Given the description of an element on the screen output the (x, y) to click on. 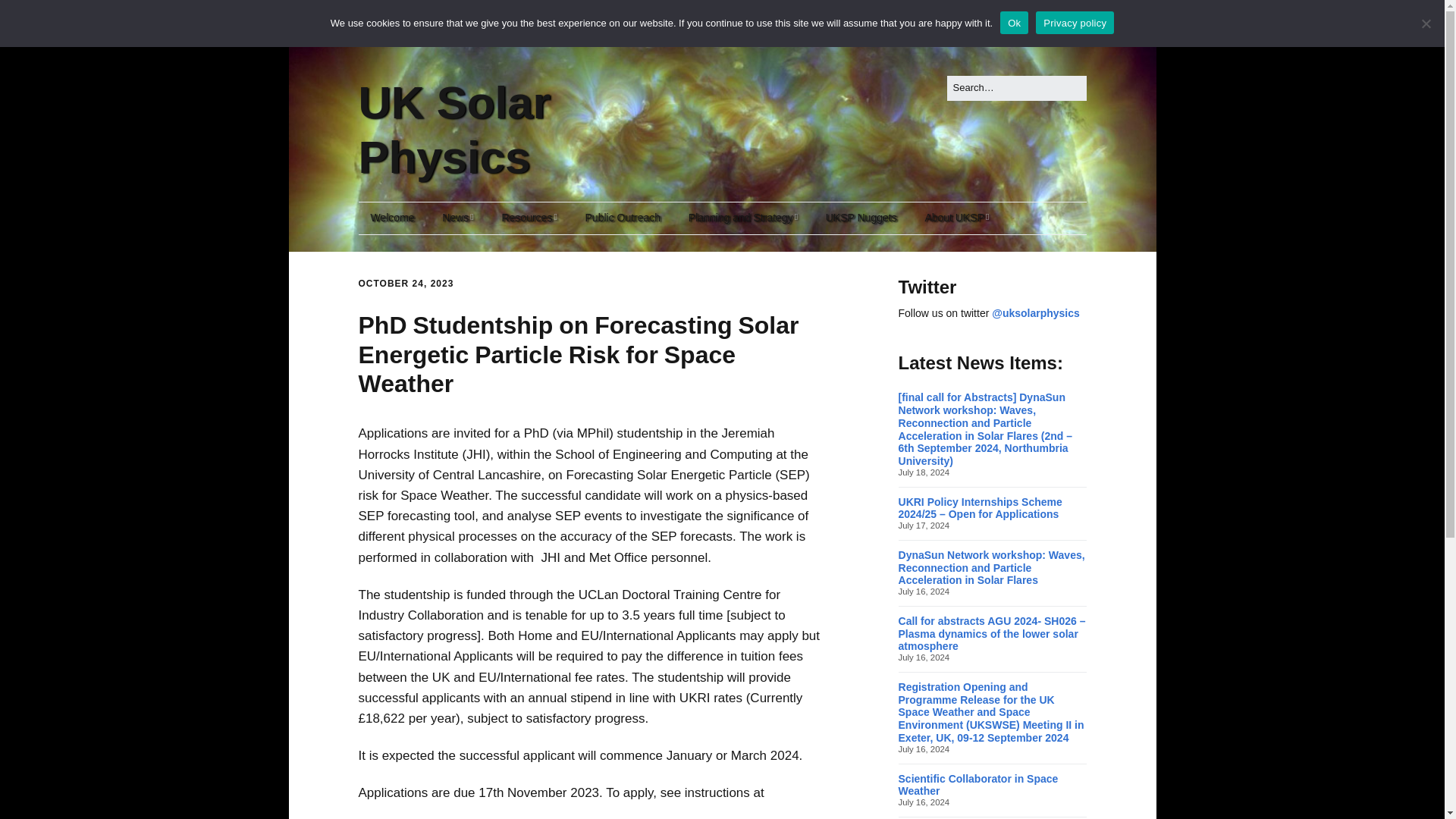
No (1425, 23)
Welcome (392, 218)
Press Enter to submit your search (1016, 88)
About UKSP (956, 218)
UK Solar Physics (454, 129)
Resources (529, 218)
Public Outreach (622, 218)
UKSP Nuggets (860, 218)
Planning and Strategy (743, 218)
News (456, 218)
Search (29, 14)
